Given the description of an element on the screen output the (x, y) to click on. 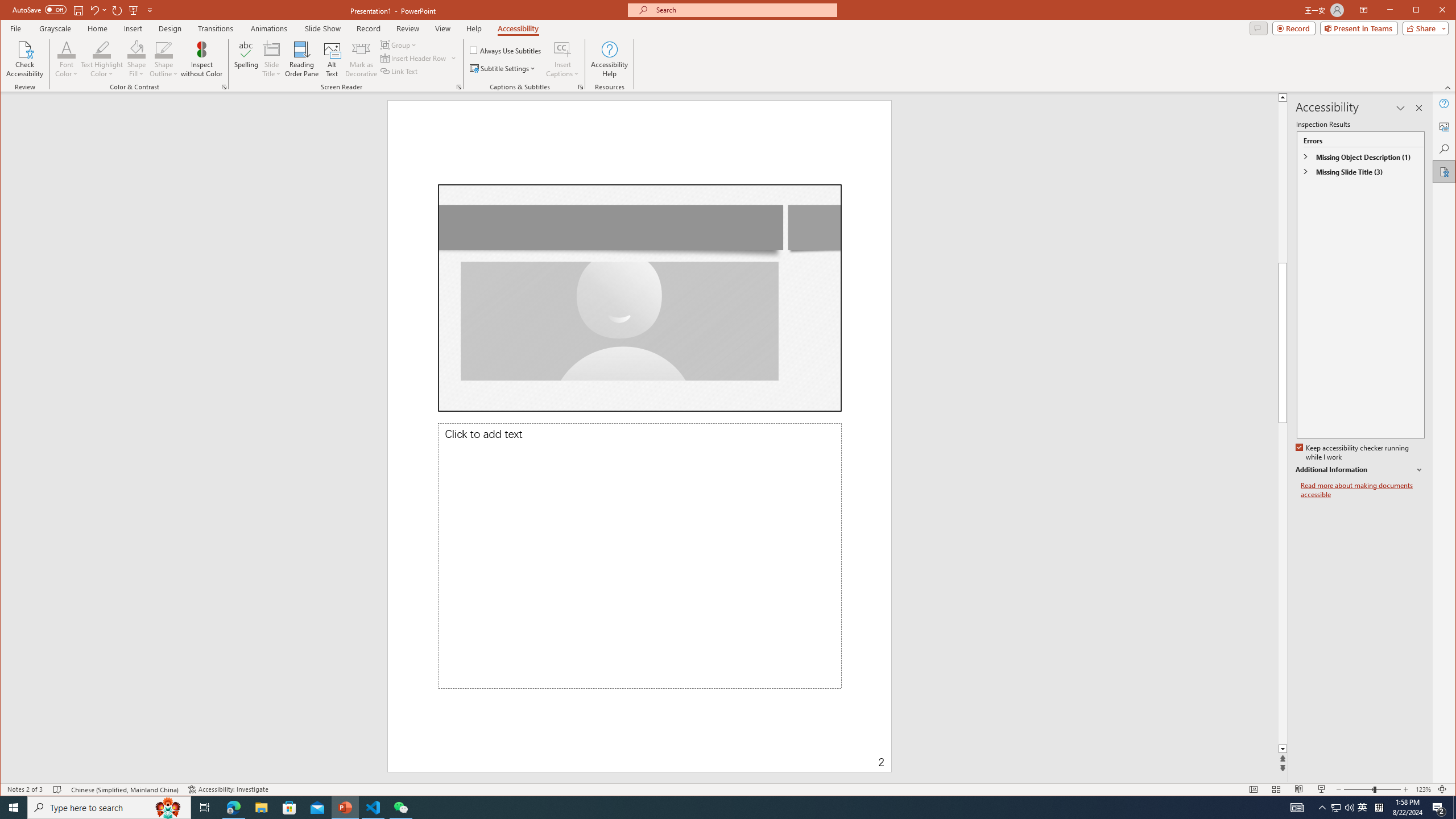
Q2790: 100% (1349, 807)
Line up (1427, 96)
Text Highlight Color (102, 48)
File Explorer (261, 807)
